Given the description of an element on the screen output the (x, y) to click on. 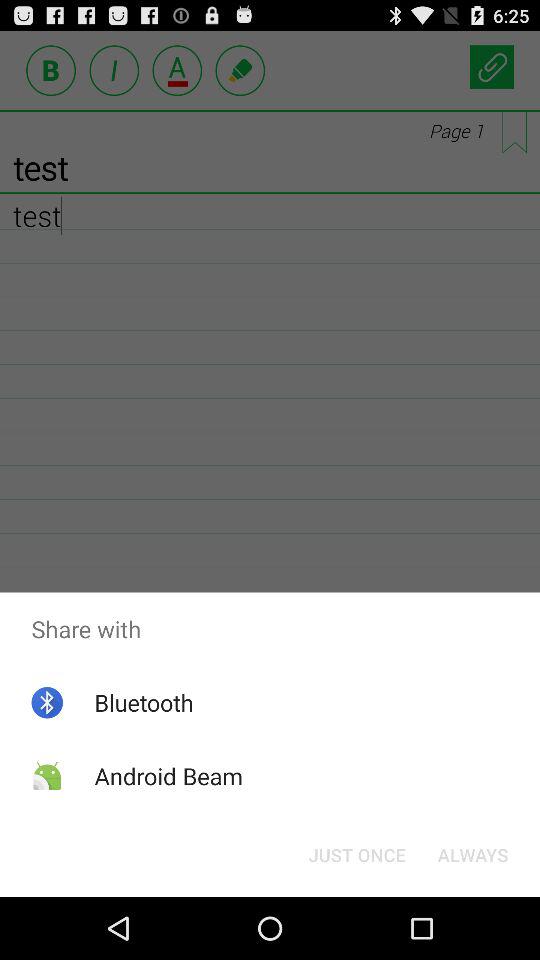
turn on just once item (356, 854)
